Given the description of an element on the screen output the (x, y) to click on. 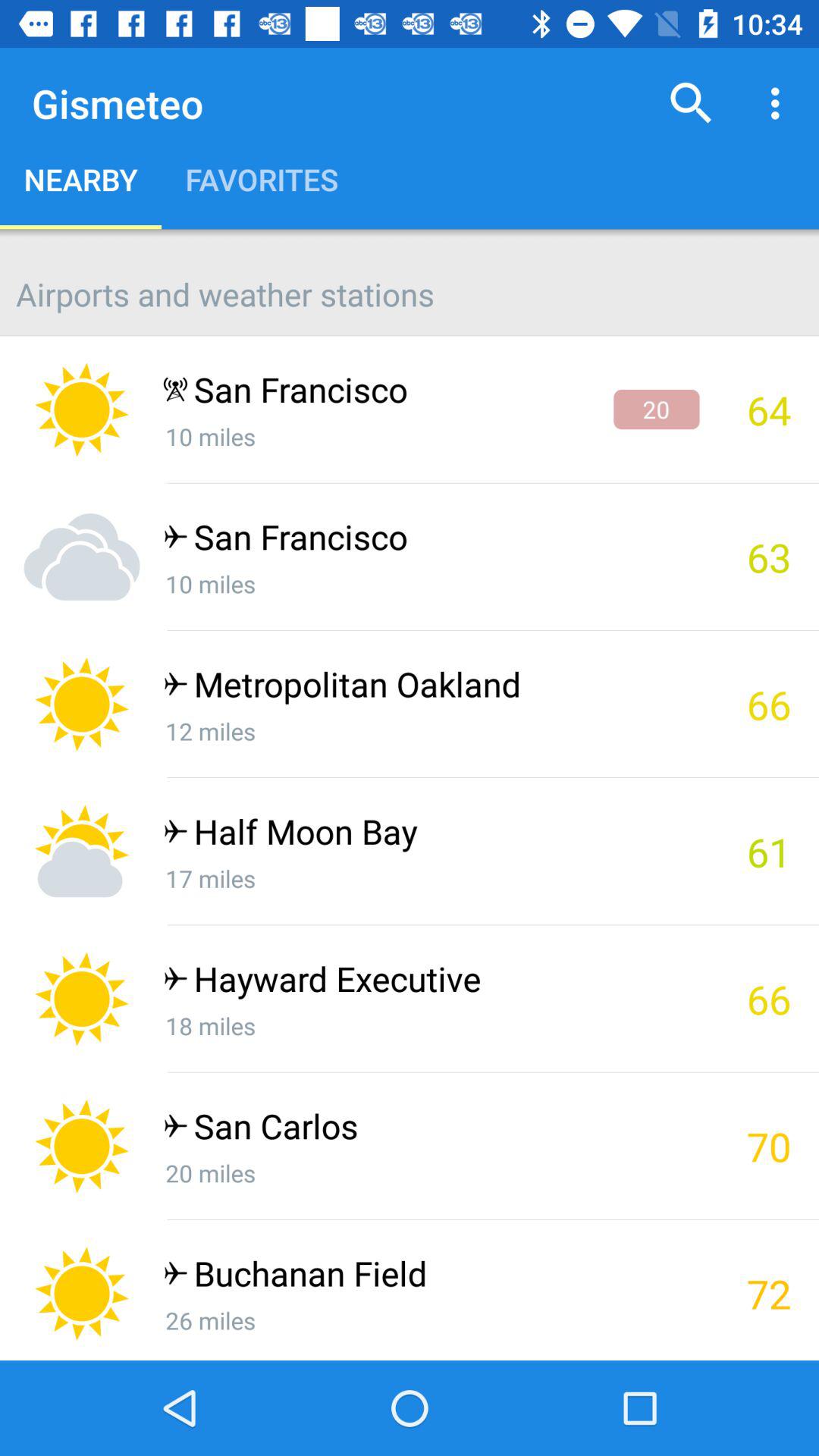
launch 61 item (759, 851)
